Given the description of an element on the screen output the (x, y) to click on. 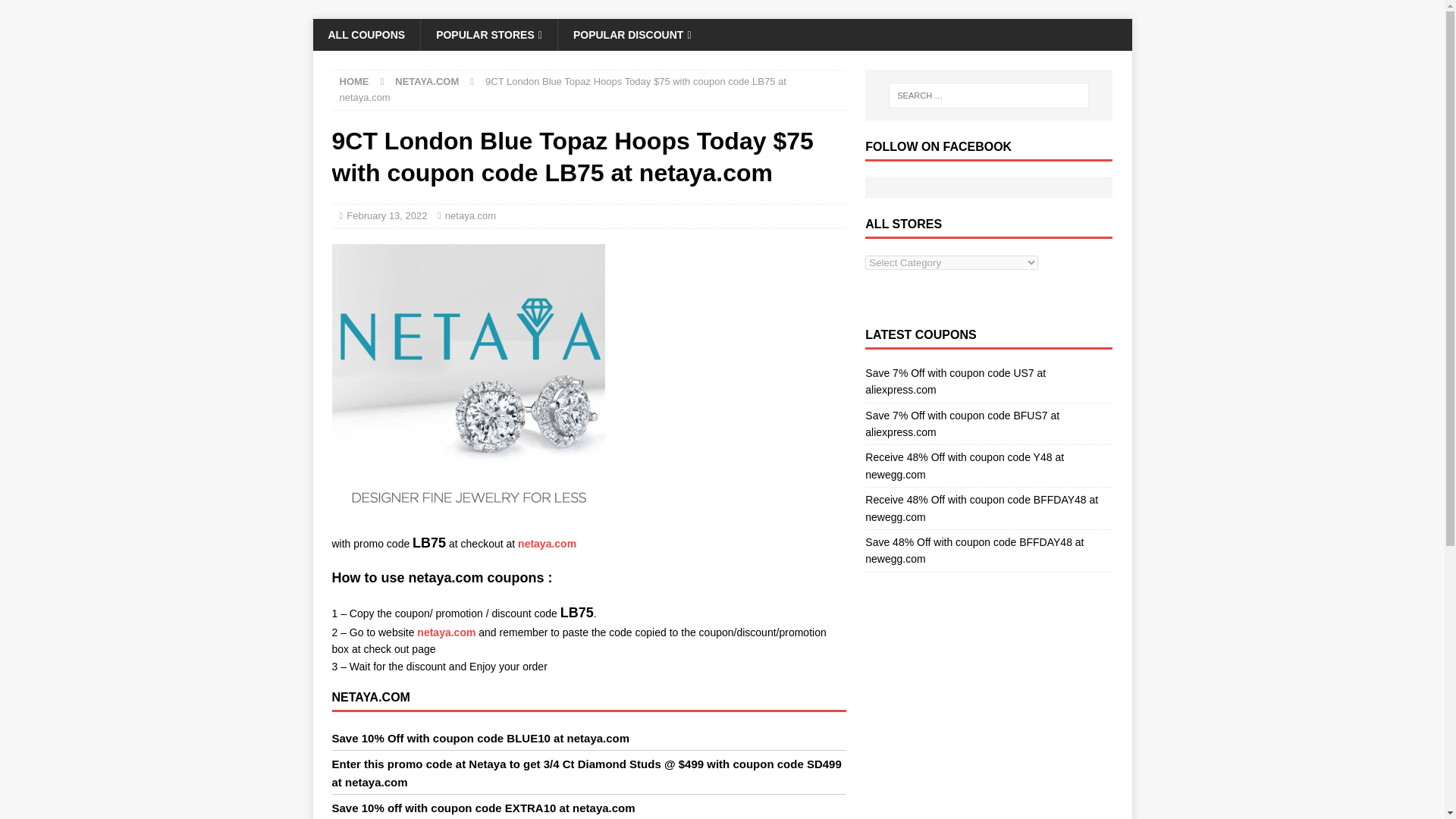
POPULAR DISCOUNT (631, 34)
ALL COUPONS (366, 34)
NETAYA.COM (426, 81)
POPULAR STORES (488, 34)
netaya.com (470, 215)
HOME (354, 81)
February 13, 2022 (386, 215)
